Given the description of an element on the screen output the (x, y) to click on. 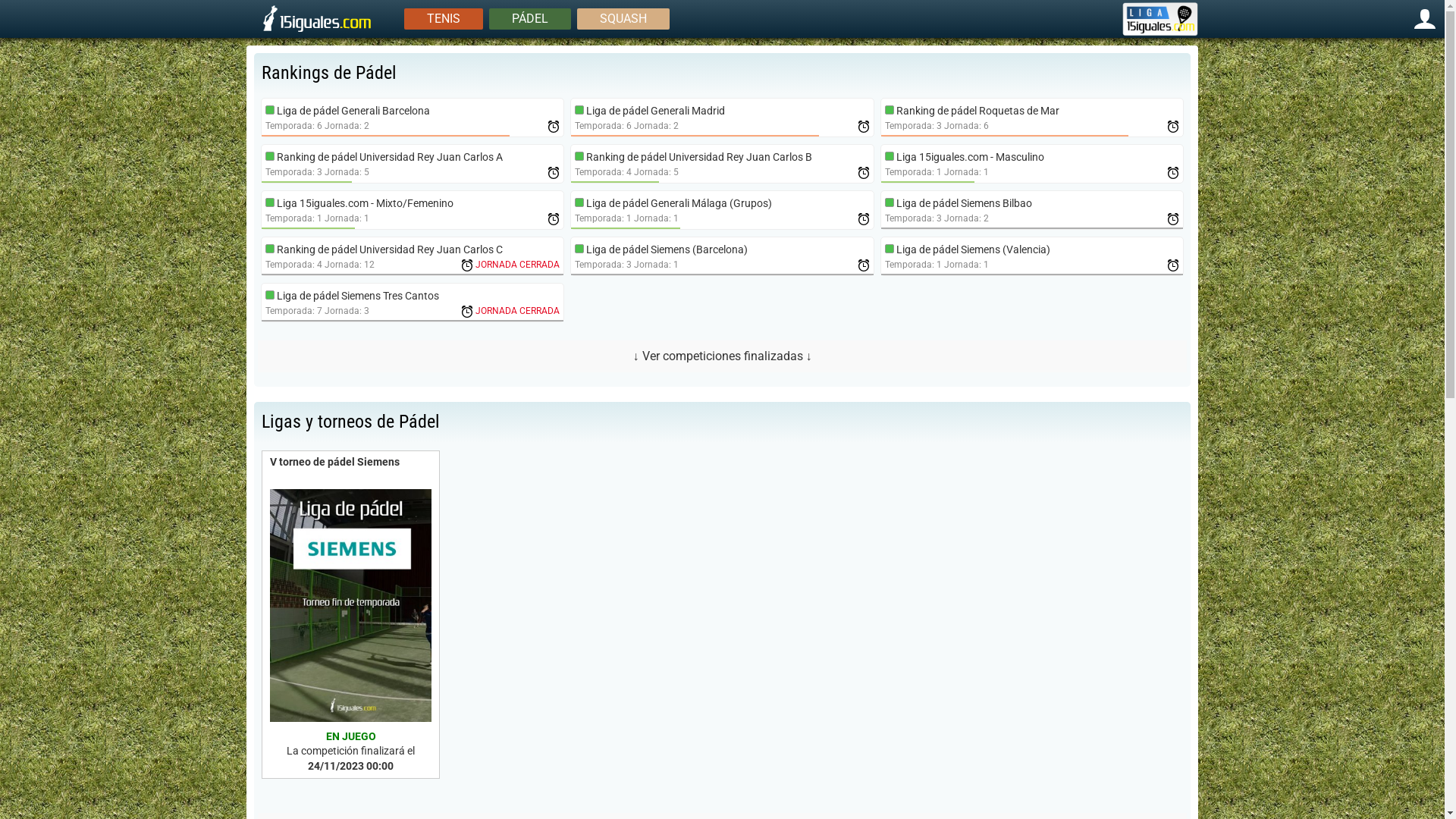
Liga 15iguales.com - Mixto/Femenino Element type: text (364, 203)
Accede a 15iguales.com Element type: hover (1424, 18)
TENIS Element type: text (443, 18)
15iguales.com Element type: hover (317, 29)
Liga 15iguales.com - Masculino Element type: text (970, 156)
SQUASH Element type: text (622, 18)
